Given the description of an element on the screen output the (x, y) to click on. 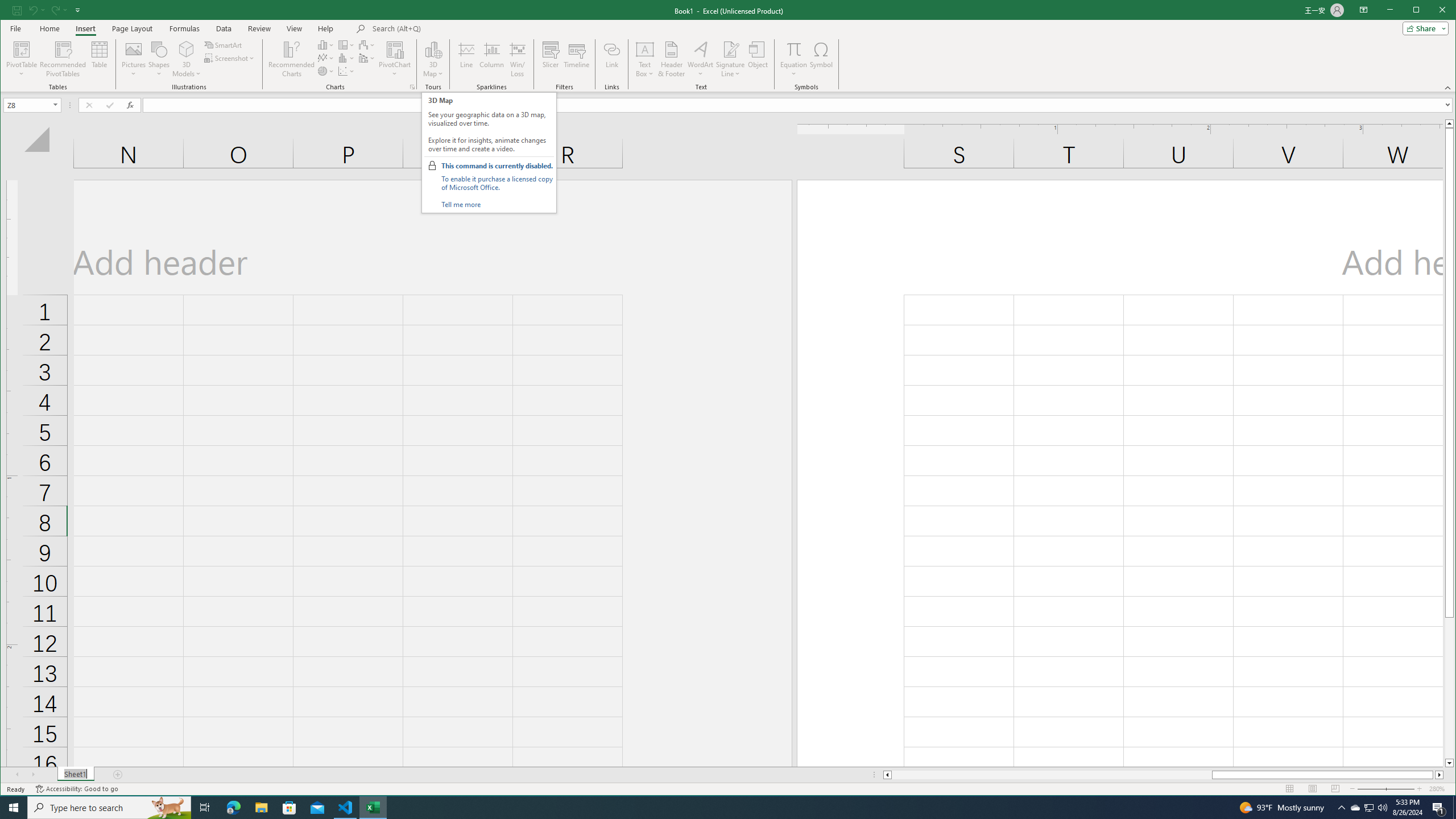
Task View (204, 807)
File Explorer (261, 807)
Formula Bar (799, 104)
Type here to search (108, 807)
PivotTable (22, 48)
PivotTable (22, 59)
